Given the description of an element on the screen output the (x, y) to click on. 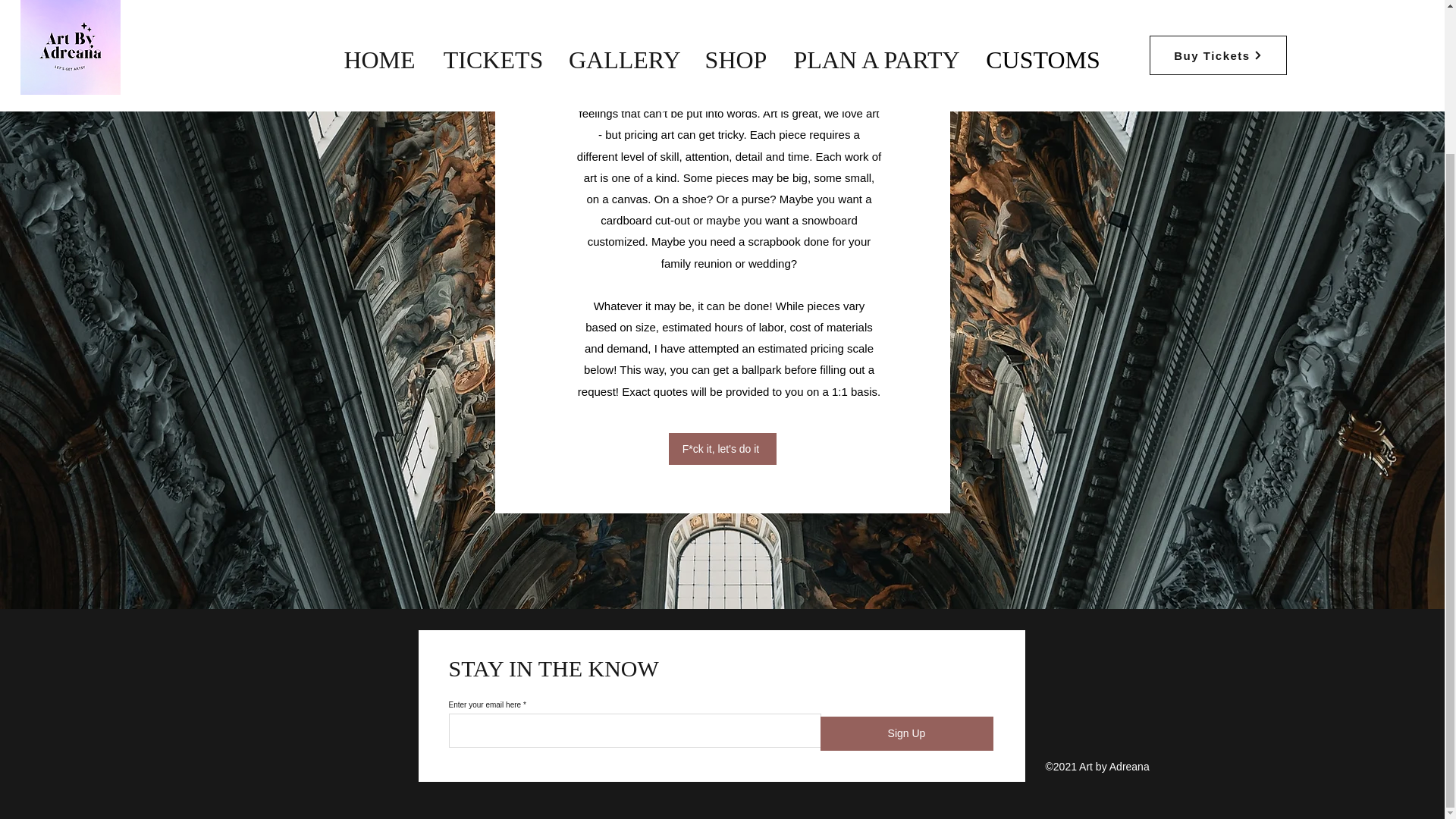
Sign Up (906, 733)
